Given the description of an element on the screen output the (x, y) to click on. 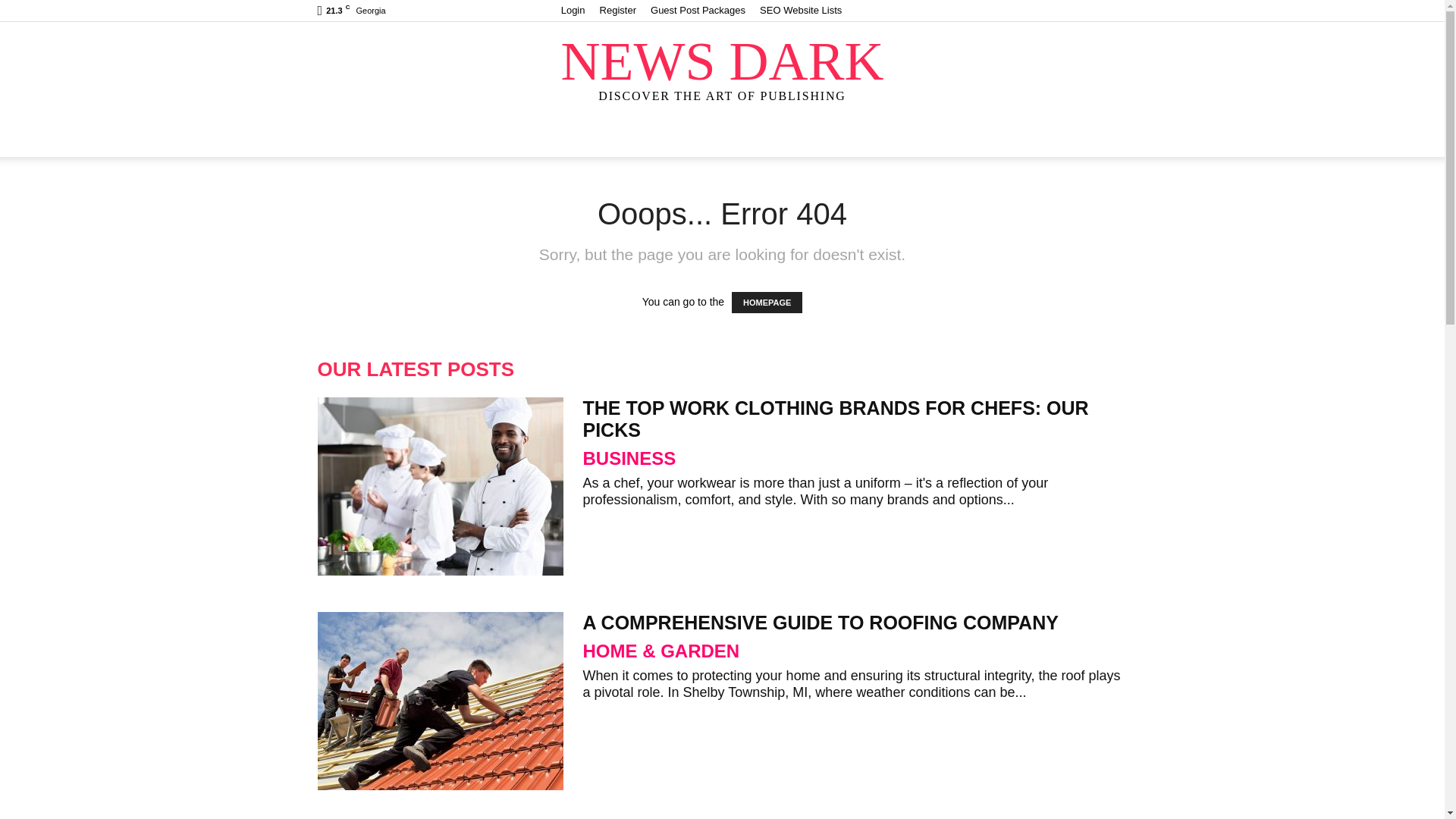
Instagram (1015, 10)
The Top Work Clothing Brands for Chefs: Our Picks (834, 418)
TikTok (1090, 10)
A Comprehensive Guide to Roofing Company (439, 700)
Register (617, 9)
Login (572, 9)
The Top Work Clothing Brands for Chefs: Our Picks (439, 486)
SEO Website Lists (800, 9)
Pinterest (1065, 10)
Youtube (1114, 10)
